Given the description of an element on the screen output the (x, y) to click on. 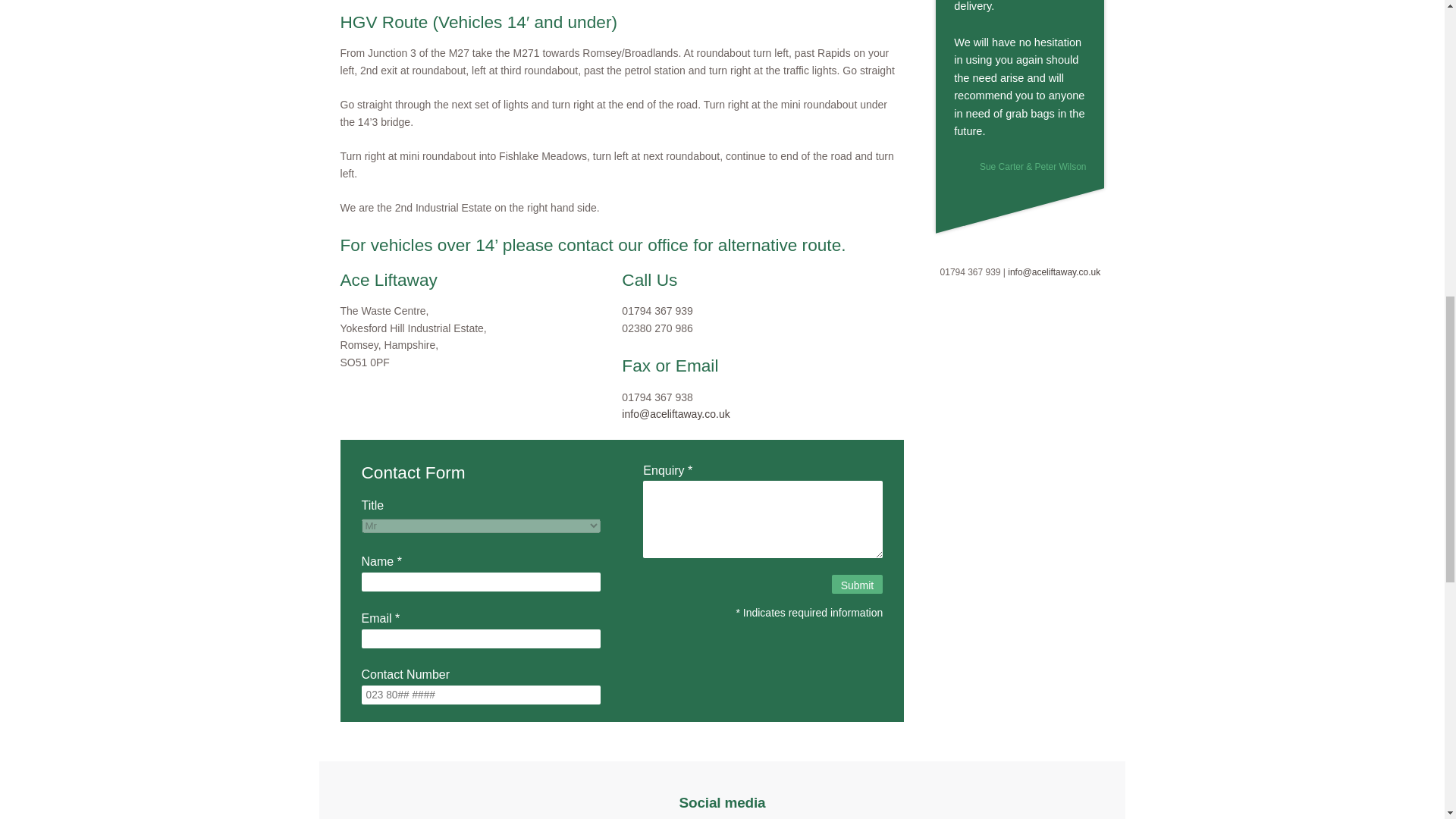
Submit (857, 583)
Submit (857, 583)
